Given the description of an element on the screen output the (x, y) to click on. 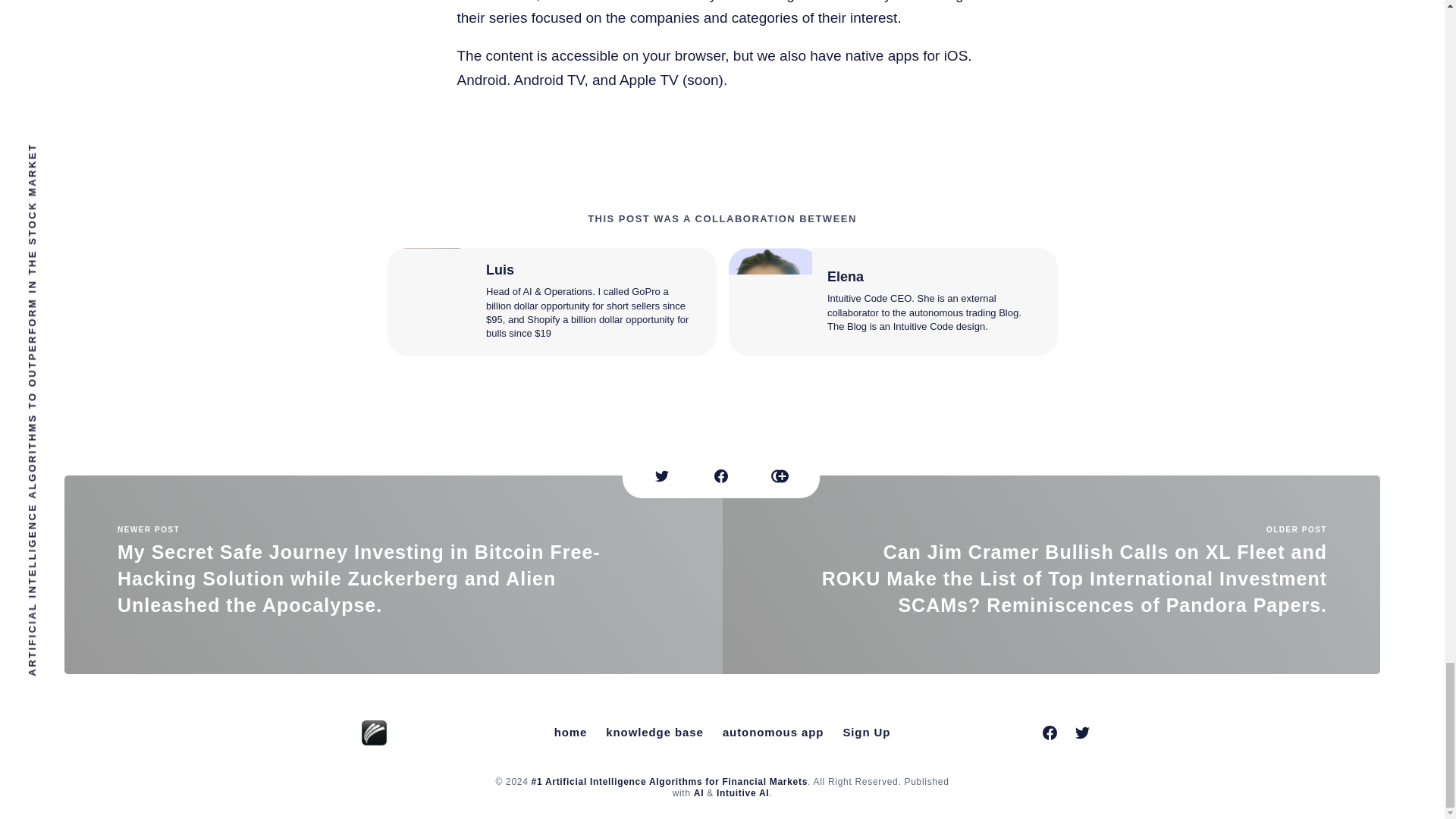
autonomous app (772, 732)
knowledge base (654, 732)
home (571, 732)
Elena (845, 276)
Luis (498, 269)
